Given the description of an element on the screen output the (x, y) to click on. 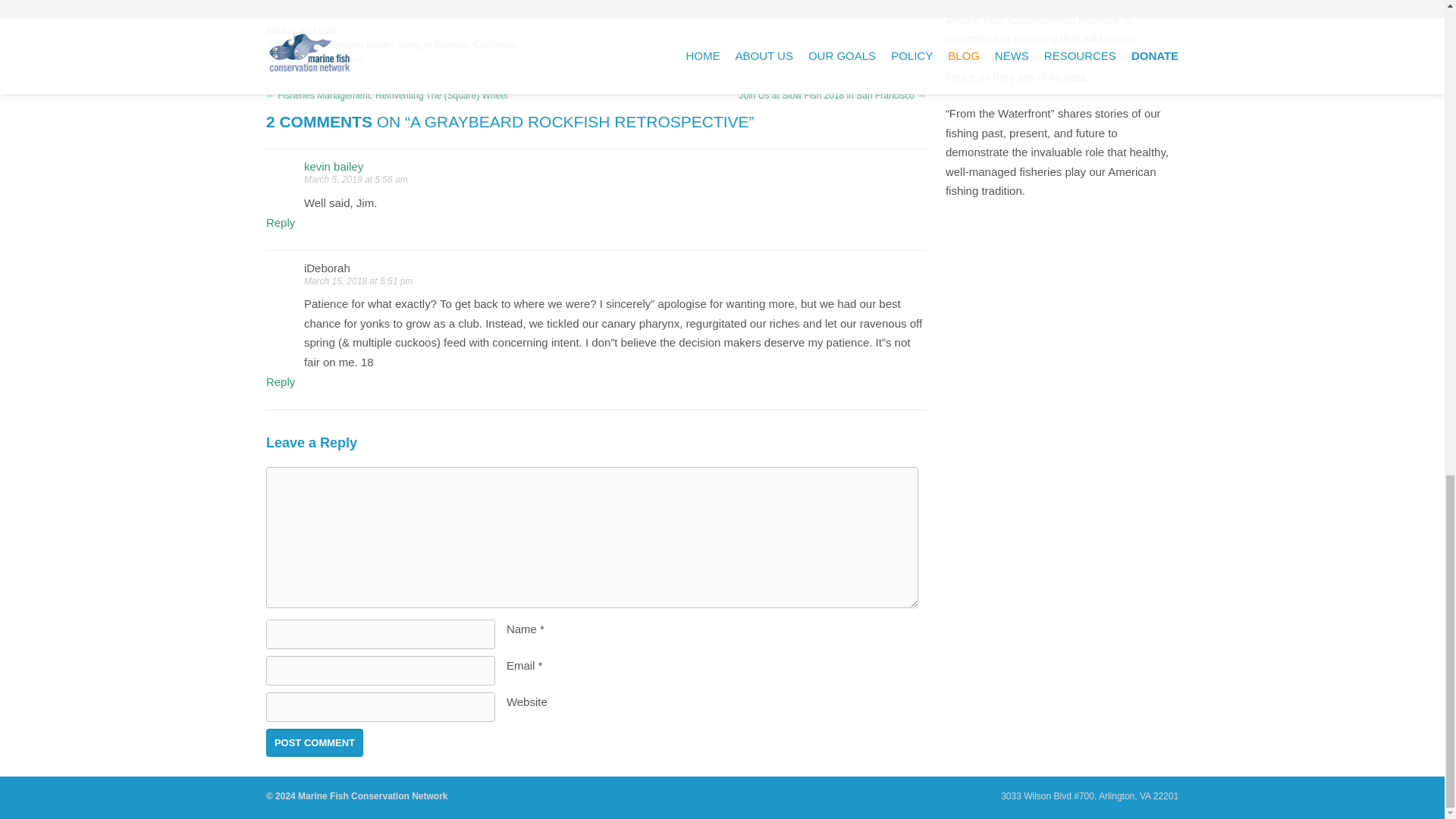
Post Comment (314, 742)
